Given the description of an element on the screen output the (x, y) to click on. 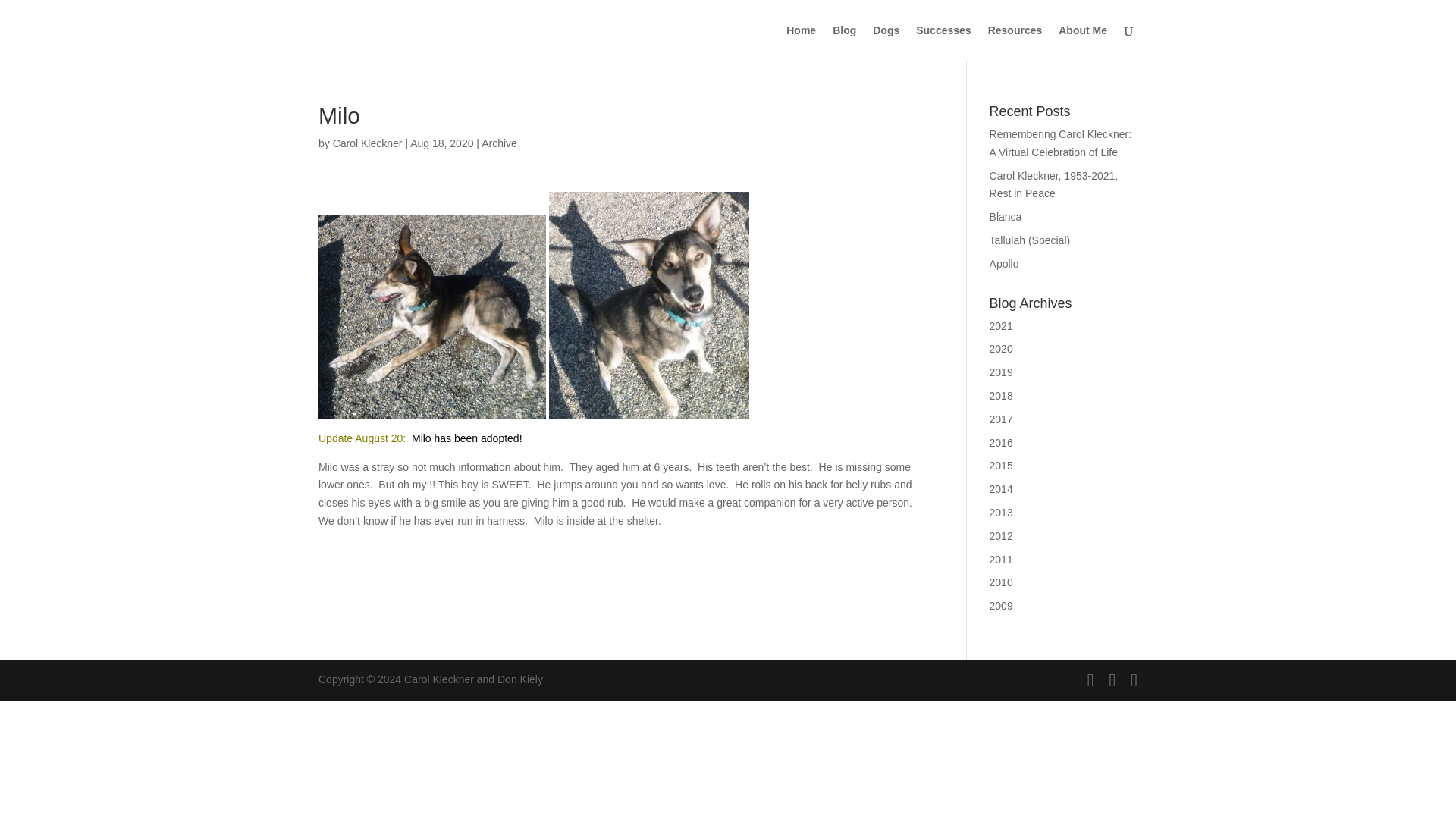
2013 (1001, 512)
2009 (1001, 605)
Remembering Carol Kleckner: A Virtual Celebration of Life (1061, 142)
Apollo (1004, 263)
About Me (1082, 42)
2021 (1001, 326)
Carol Kleckner, 1953-2021, Rest in Peace (1054, 184)
2011 (1001, 559)
2016 (1001, 442)
Successes (943, 42)
